Given the description of an element on the screen output the (x, y) to click on. 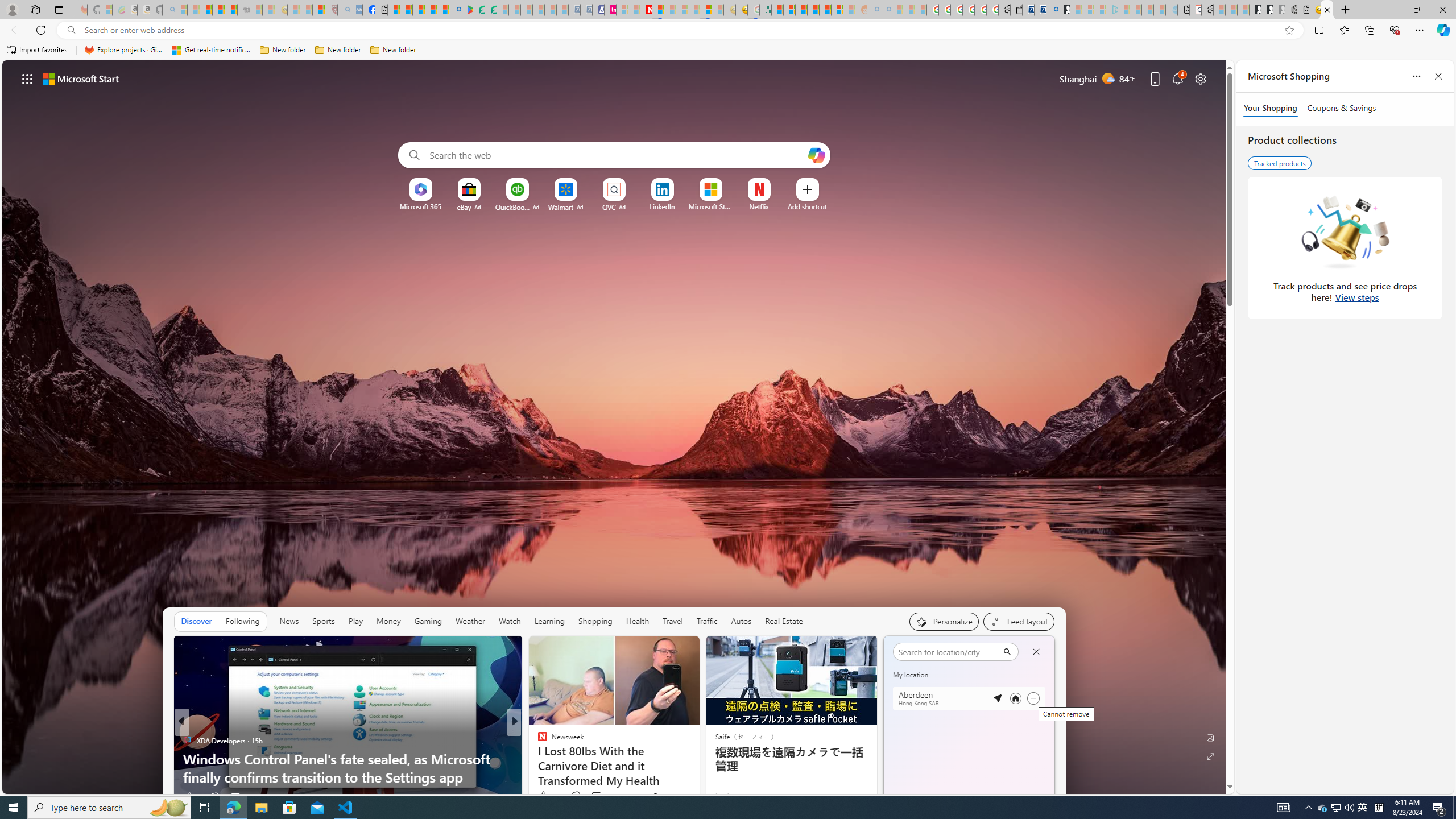
Simply Recipes (537, 740)
previous (888, 722)
See full forecast (1013, 799)
You're following Newsweek (670, 795)
Personalize your feed" (943, 621)
Shopping (594, 621)
